Given the description of an element on the screen output the (x, y) to click on. 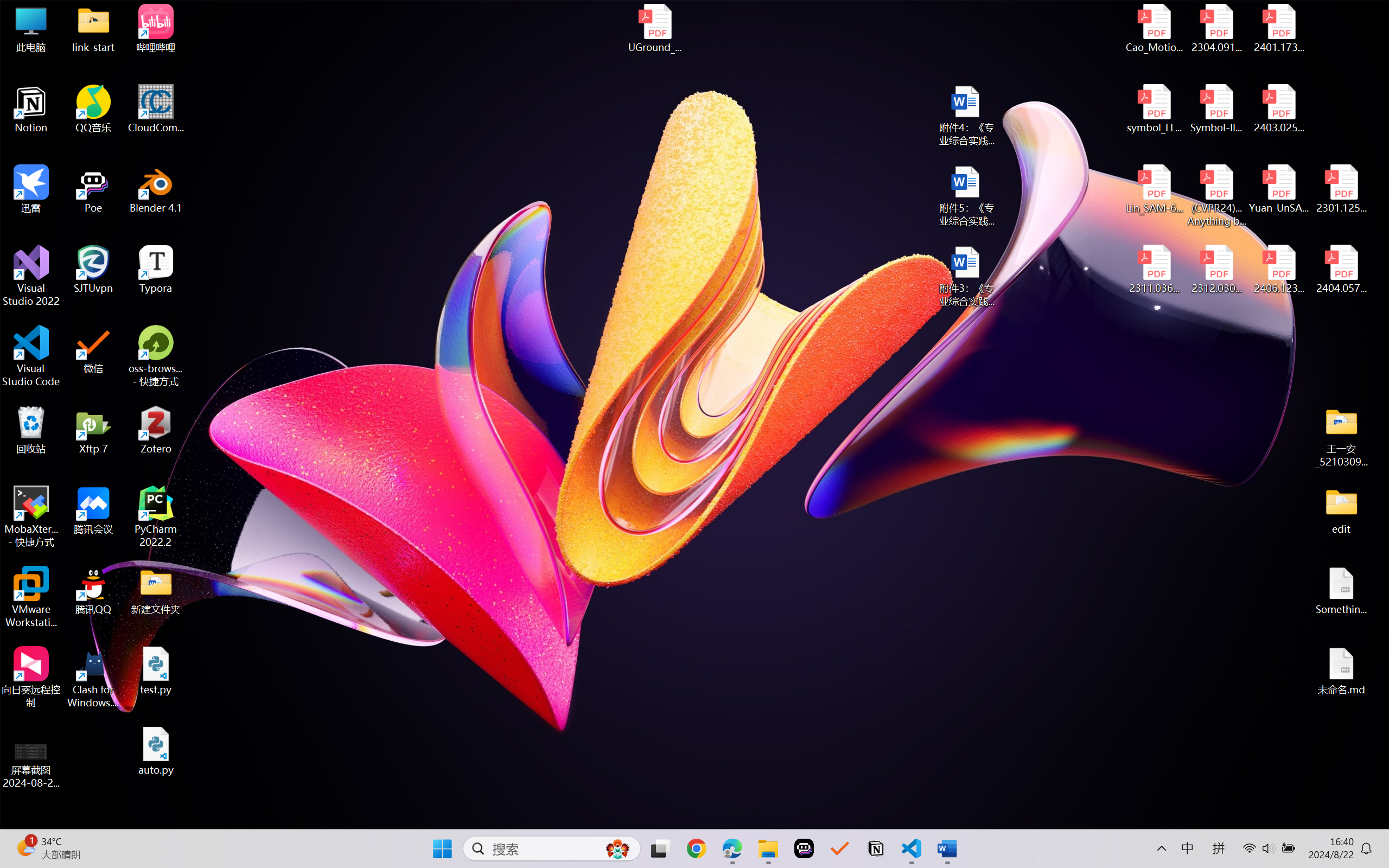
VMware Workstation Pro (31, 597)
(CVPR24)Matching Anything by Segmenting Anything.pdf (1216, 195)
test.py (156, 670)
CloudCompare (156, 109)
symbol_LLM.pdf (1154, 109)
SJTUvpn (93, 269)
auto.py (156, 751)
